Given the description of an element on the screen output the (x, y) to click on. 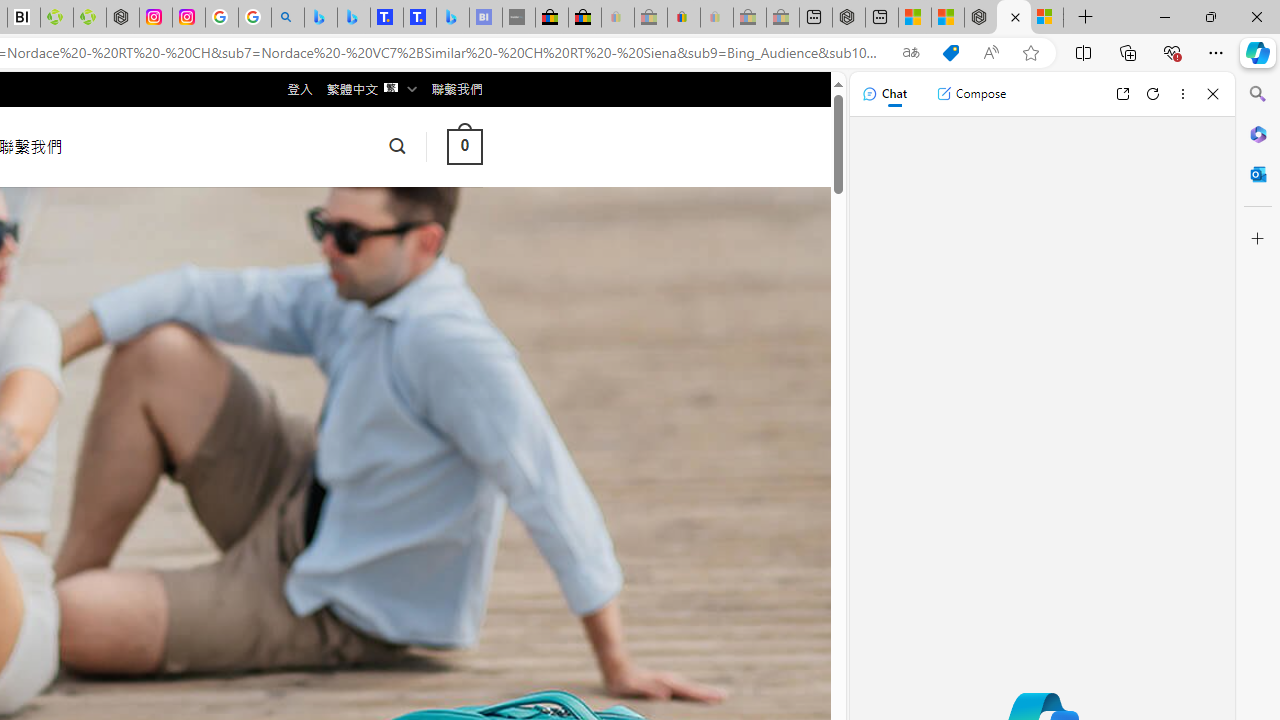
Open link in new tab (1122, 93)
Yard, Garden & Outdoor Living - Sleeping (782, 17)
Threats and offensive language policy | eBay (684, 17)
Descarga Driver Updater (90, 17)
alabama high school quarterback dies - Search (287, 17)
Microsoft Bing Travel - Flights from Hong Kong to Bangkok (320, 17)
